Given the description of an element on the screen output the (x, y) to click on. 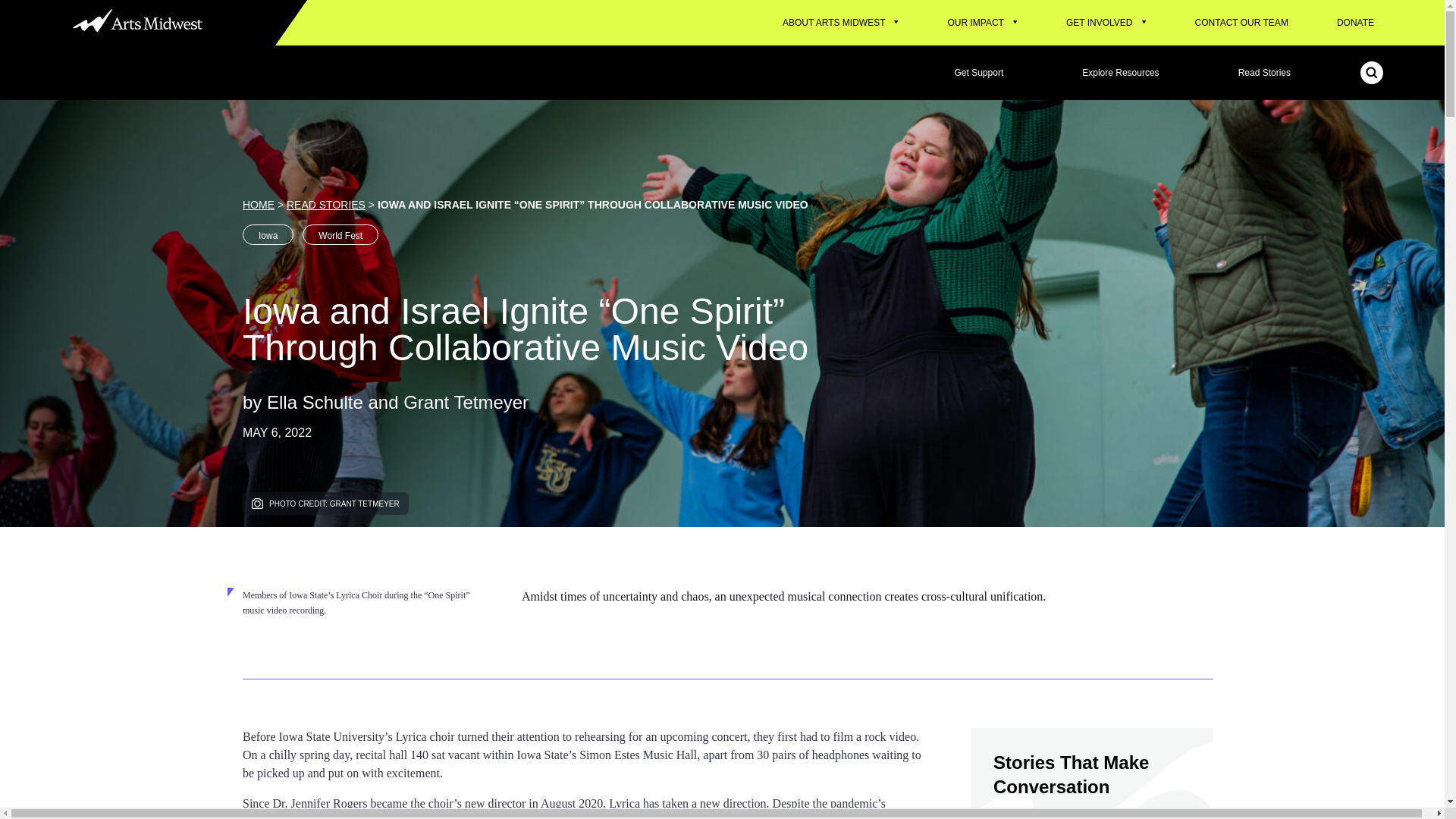
Get Support (978, 72)
DONATE (1355, 22)
CONTACT OUR TEAM (1241, 22)
